Given the description of an element on the screen output the (x, y) to click on. 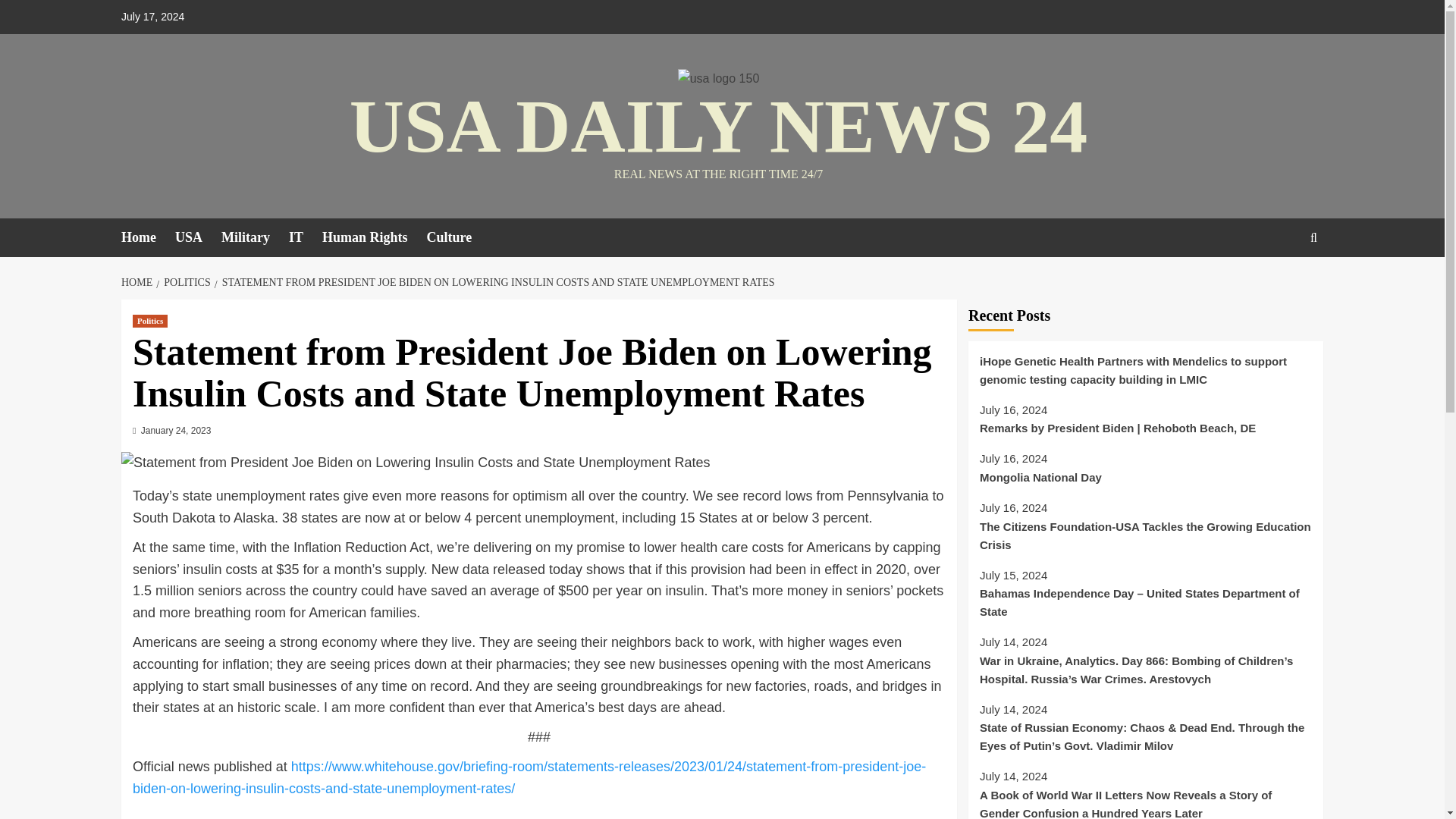
USA (197, 237)
Home (147, 237)
usa logo copy - USA DAILY NEWS 24 (719, 78)
USA DAILY NEWS 24 (718, 126)
Politics (149, 320)
January 24, 2023 (176, 430)
POLITICS (184, 282)
Human Rights (373, 237)
HOME (137, 282)
Culture (459, 237)
Mongolia National Day (1145, 482)
